Given the description of an element on the screen output the (x, y) to click on. 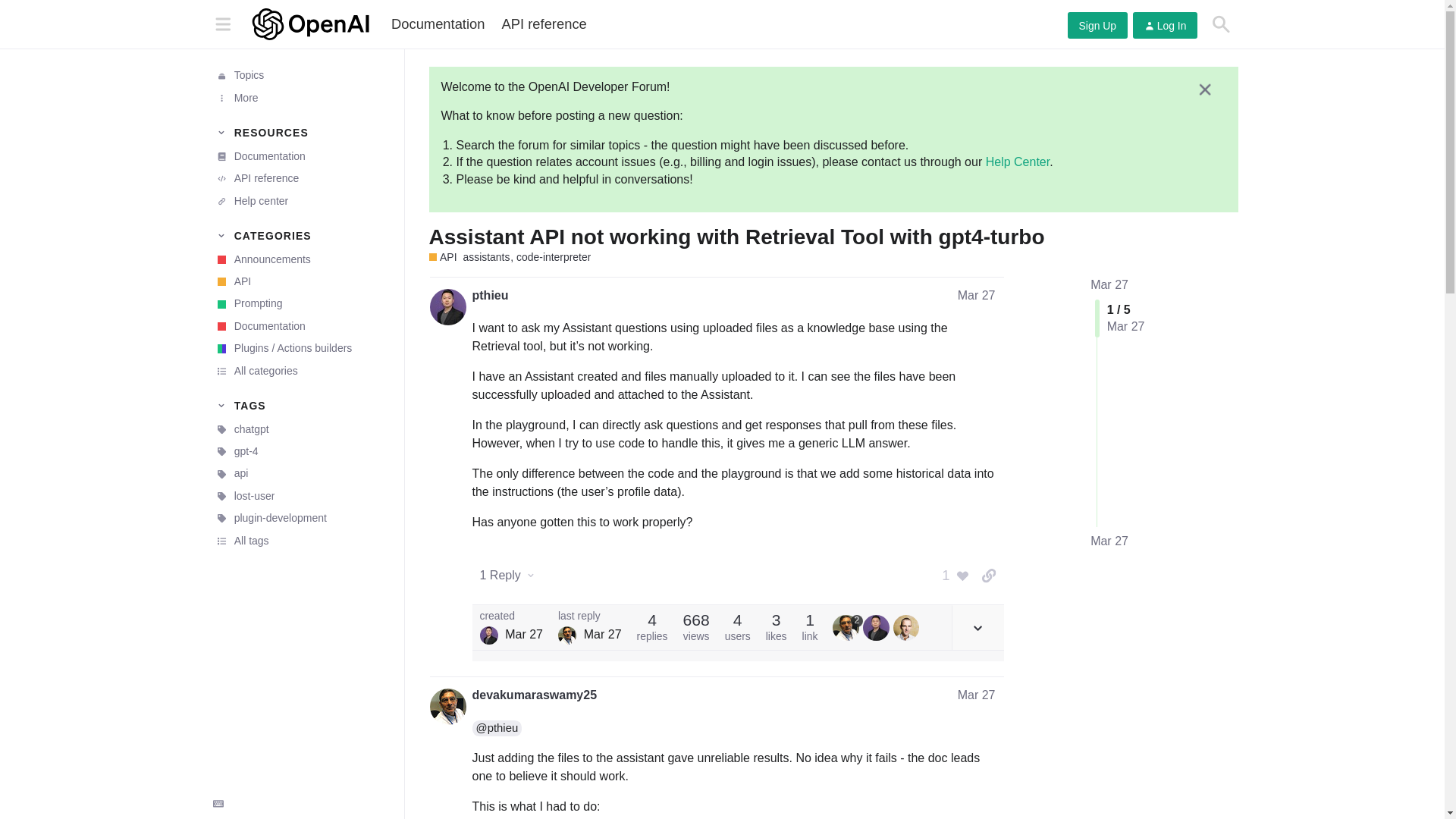
chatgpt (301, 429)
Documentation (437, 23)
plugin-development (301, 517)
All topics (301, 75)
Help center (301, 201)
API (443, 257)
Sign Up (1096, 25)
api (301, 473)
RESOURCES (301, 132)
More (301, 97)
API reference (543, 23)
Help Center (1017, 161)
Mar 27 (1109, 541)
